Given the description of an element on the screen output the (x, y) to click on. 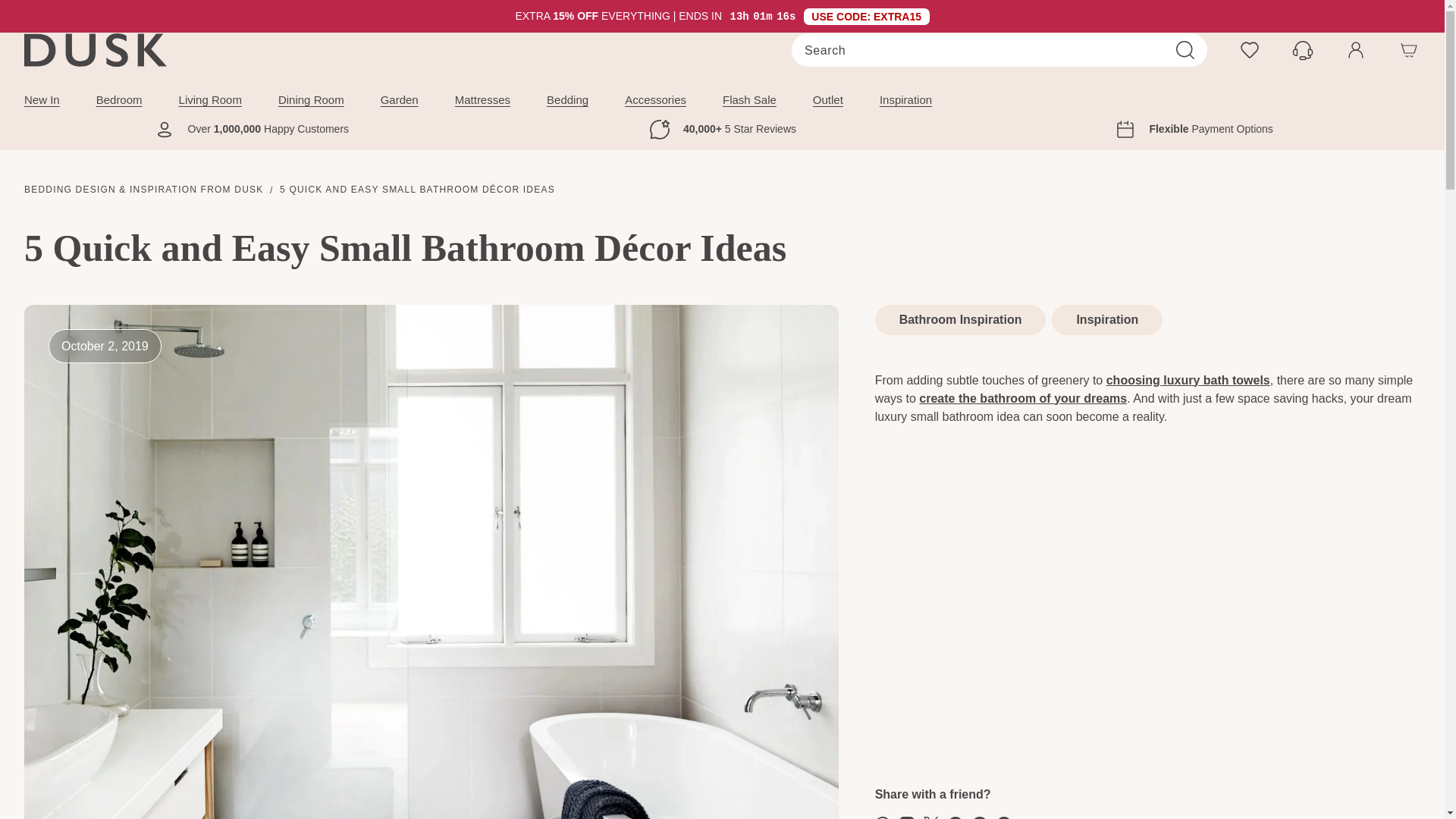
Log in (1355, 49)
Mattresses (482, 99)
Outlet (827, 99)
Bedding (567, 99)
Inspiration (905, 99)
Cart (1409, 49)
Living Room (210, 99)
Flash Sale (749, 99)
Garden (399, 99)
New In (41, 99)
Dining Room (310, 99)
Bedroom (119, 99)
Accessories (654, 99)
